Given the description of an element on the screen output the (x, y) to click on. 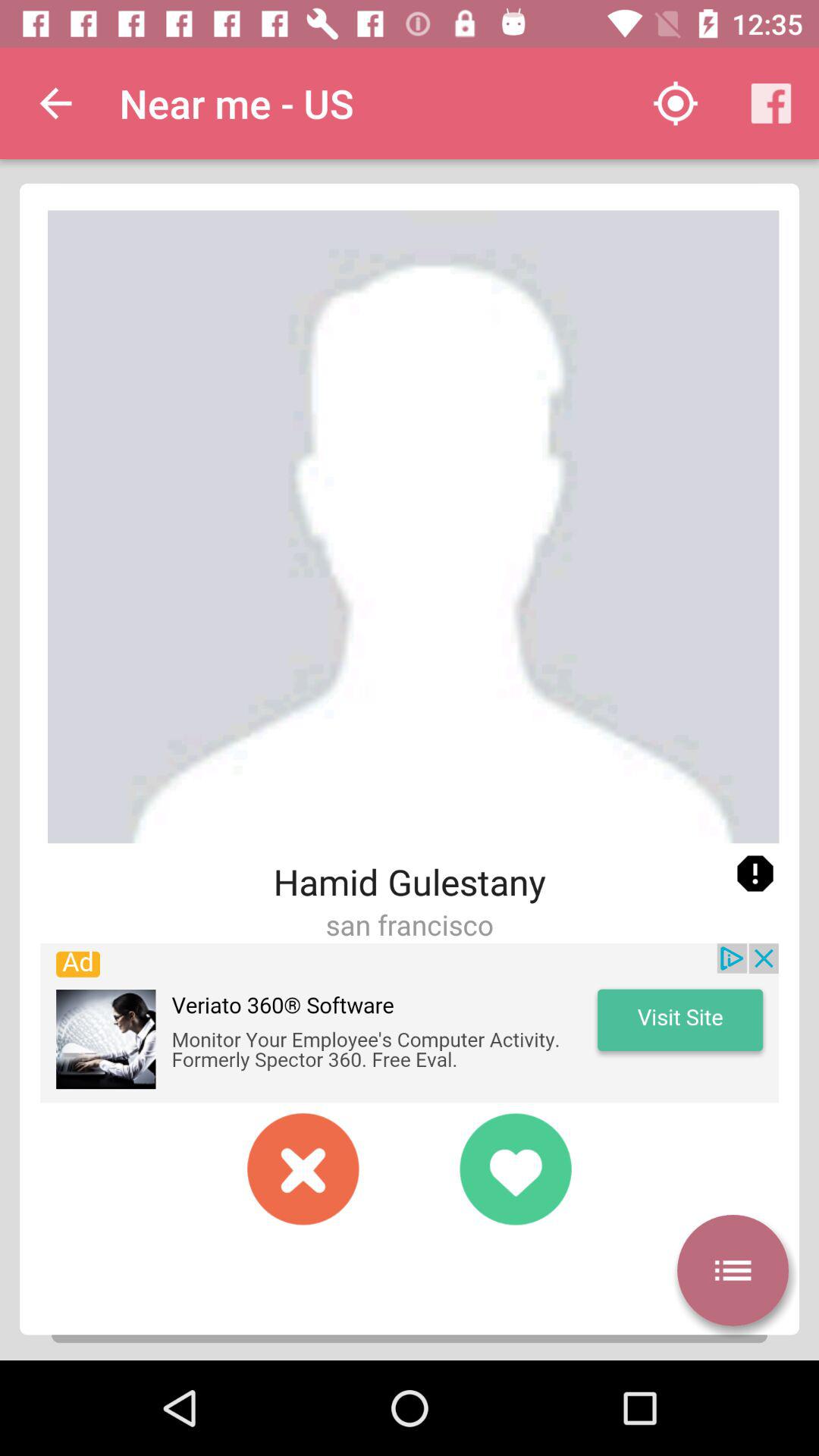
dislike user (303, 1169)
